Given the description of an element on the screen output the (x, y) to click on. 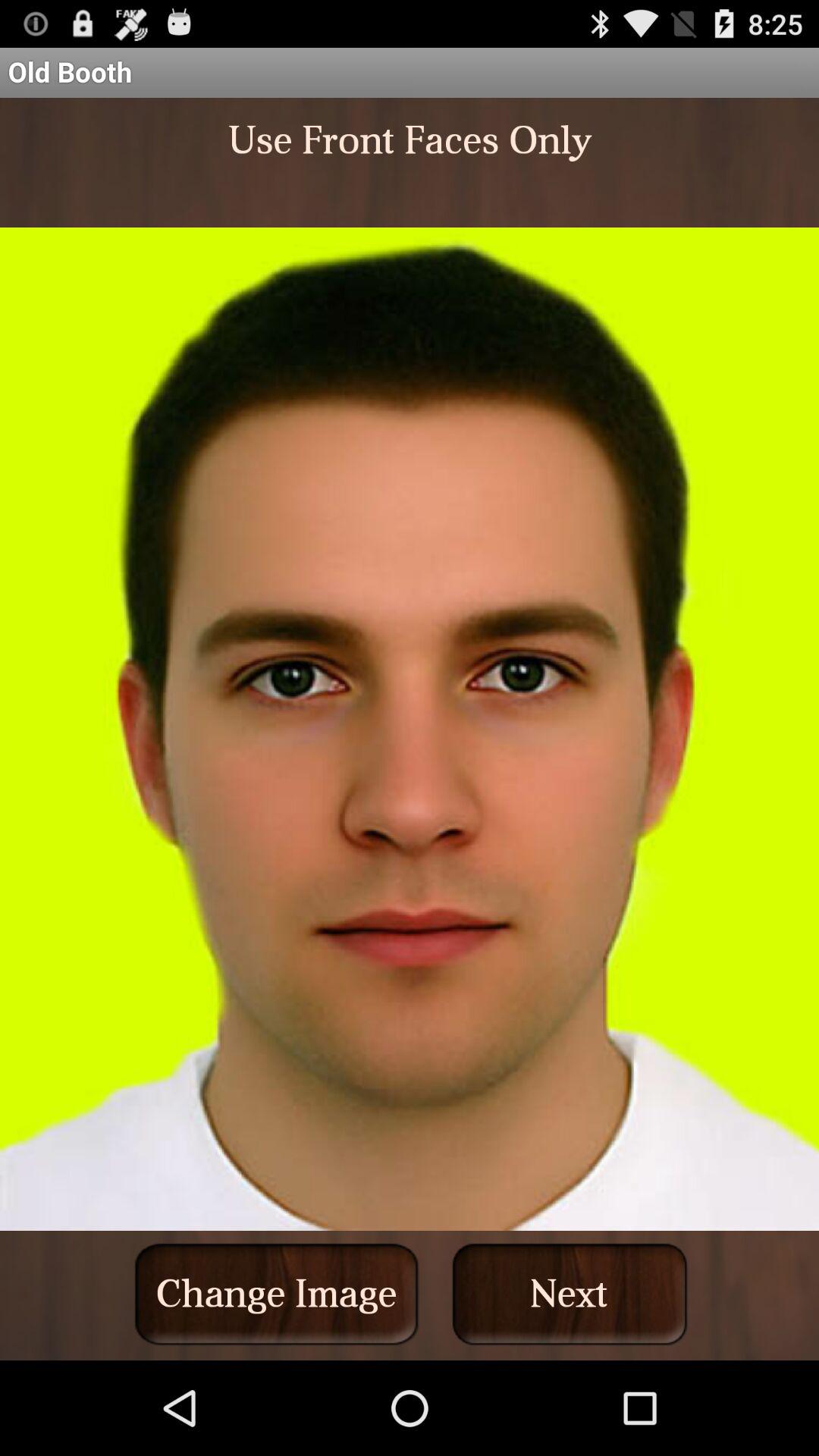
swipe to change image (276, 1293)
